Given the description of an element on the screen output the (x, y) to click on. 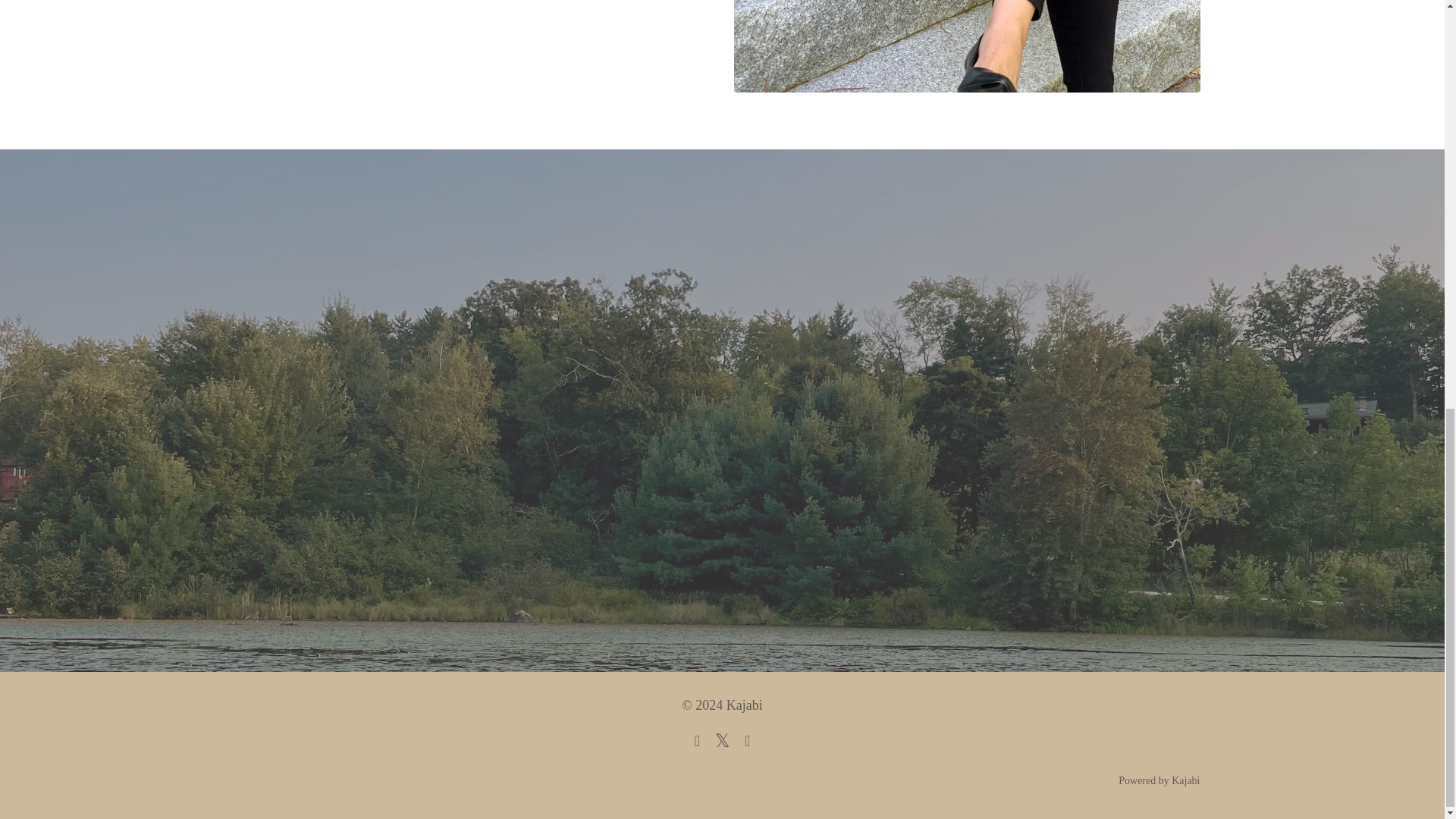
Powered by Kajabi (1158, 780)
